Given the description of an element on the screen output the (x, y) to click on. 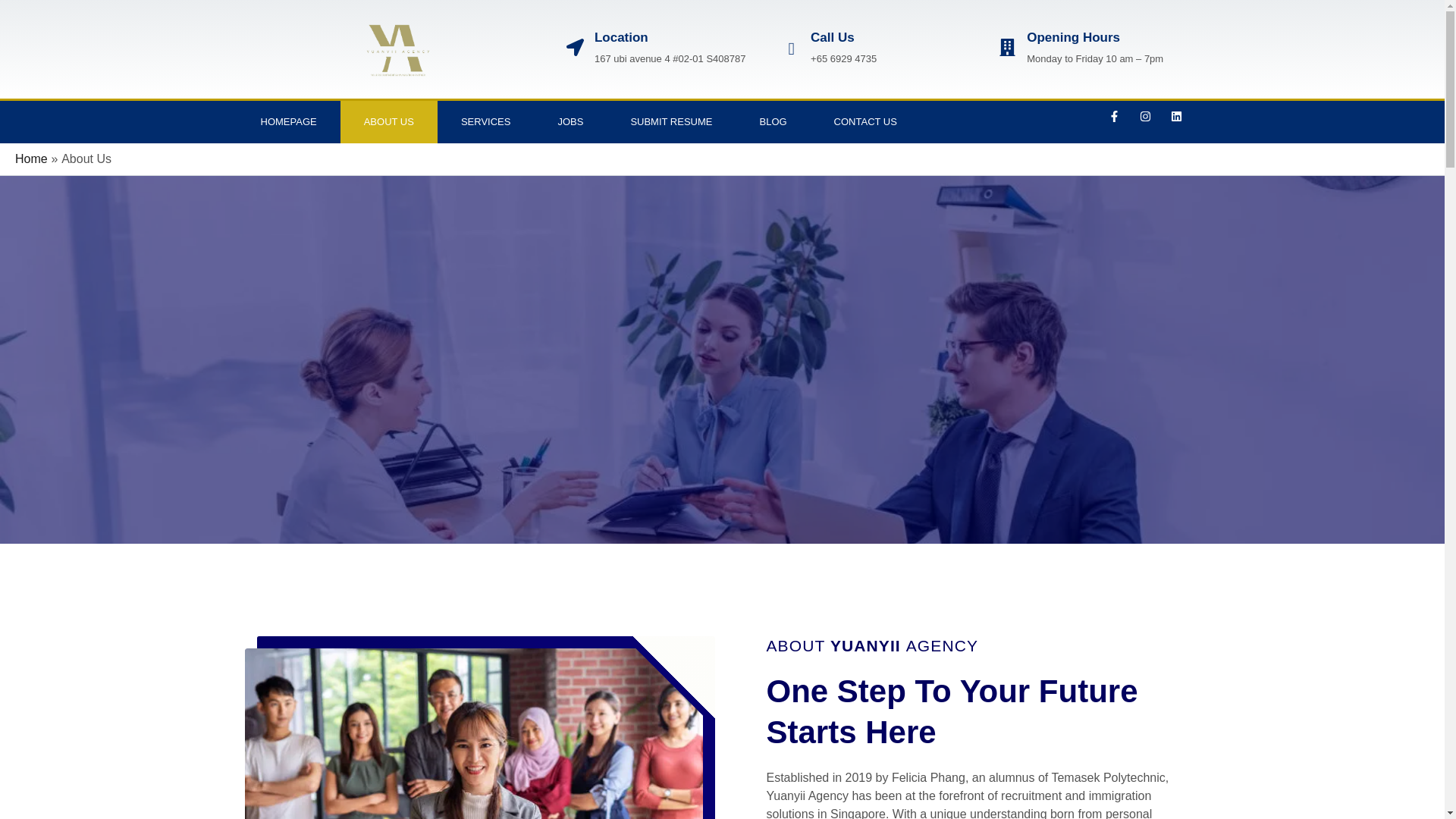
ABOUT US (389, 121)
Call Us (832, 37)
Facebook-f (1113, 121)
JOBS (570, 121)
SERVICES (486, 121)
SUBMIT RESUME (671, 121)
HOMEPAGE (287, 121)
Instagram (1145, 121)
BLOG (772, 121)
Linkedin (1176, 121)
Home (31, 158)
CONTACT US (865, 121)
